Given the description of an element on the screen output the (x, y) to click on. 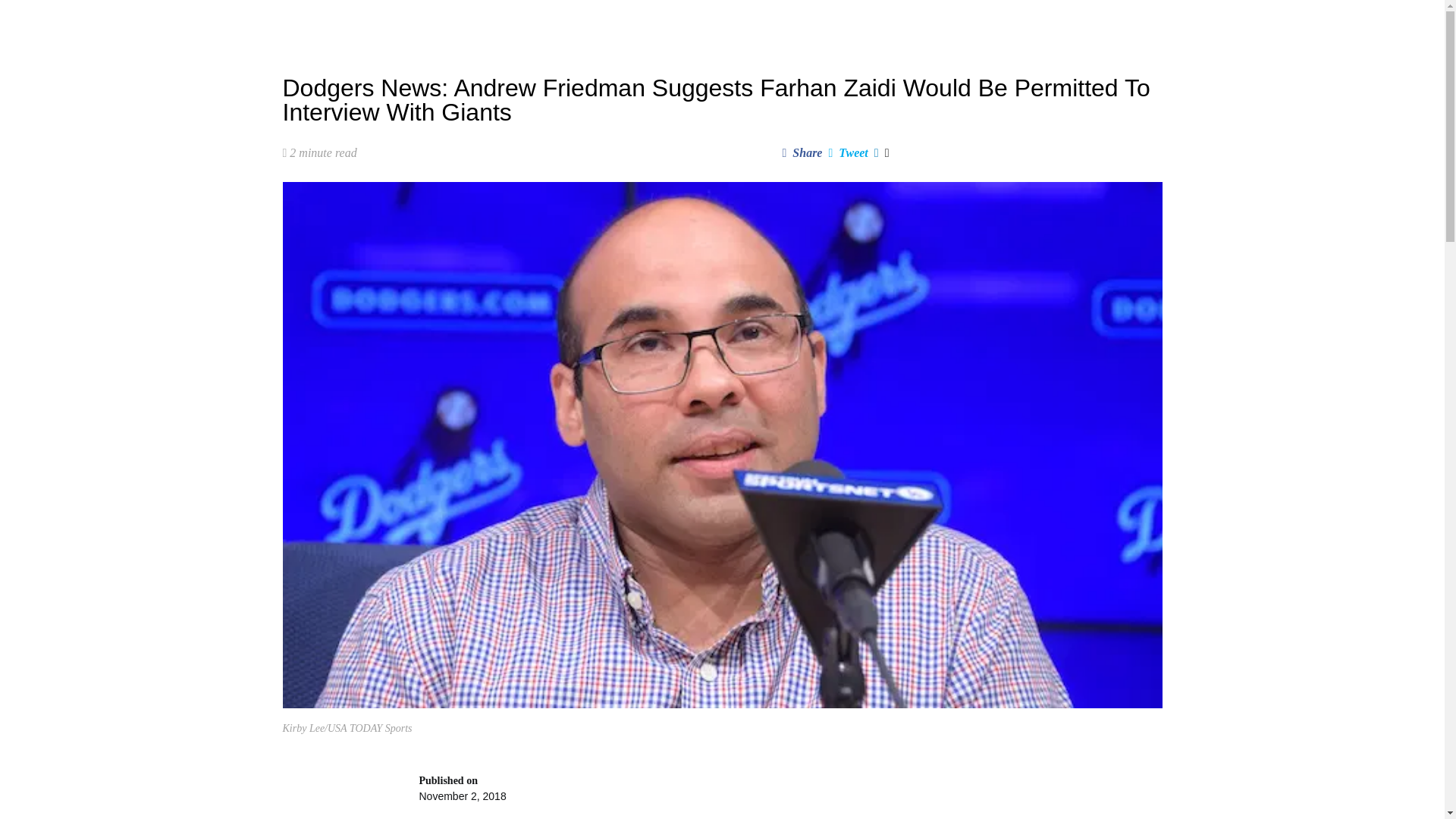
Team (640, 22)
Andrew Friedman, Farhan Zaidi address World Series loss (789, 796)
Schedules (578, 22)
Dodger Blue (322, 22)
Rumors (513, 22)
Dodgers News (440, 22)
